Given the description of an element on the screen output the (x, y) to click on. 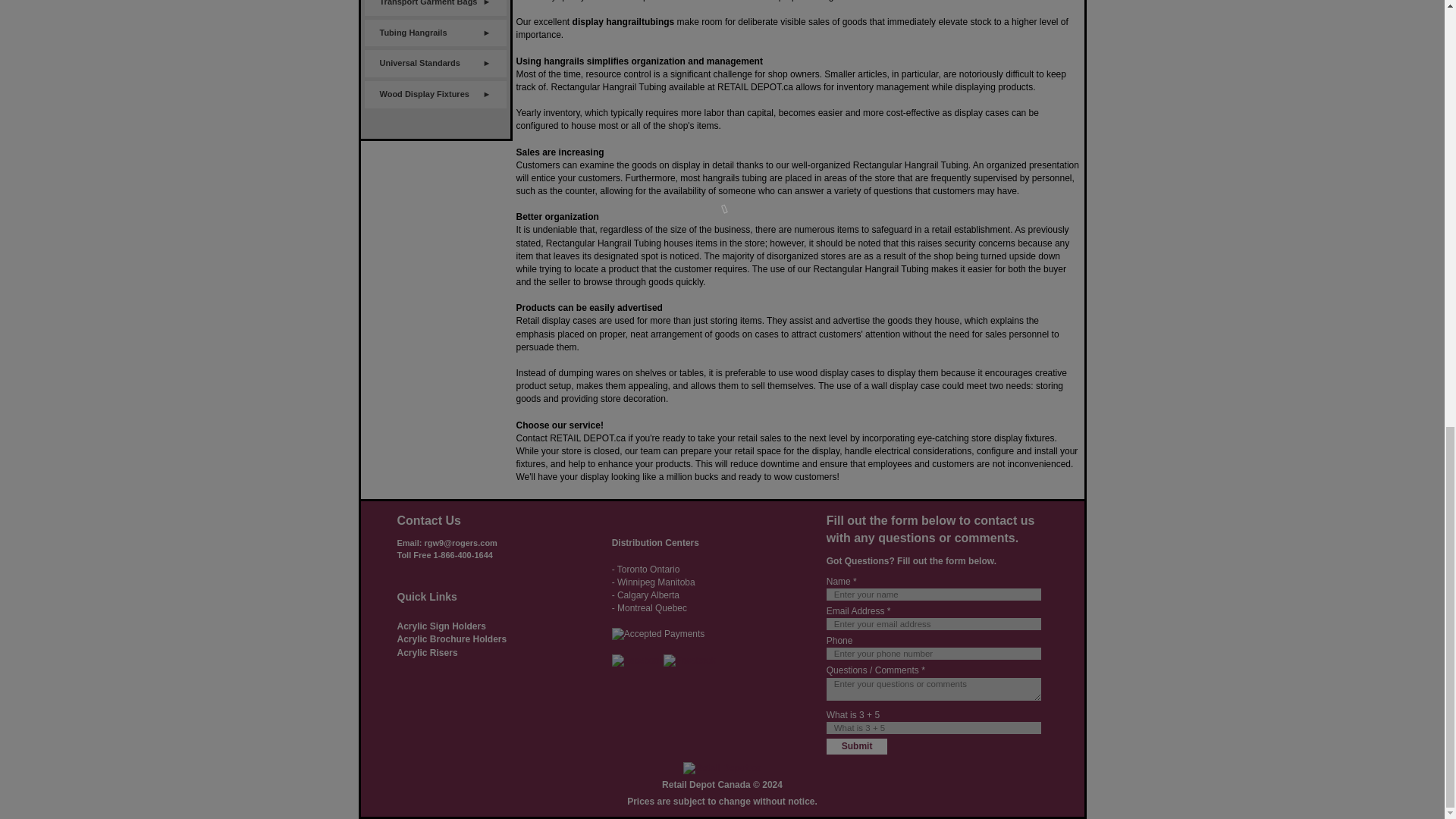
Find us on Twitter (689, 660)
Tubing Hangrails (434, 32)
Wood Display Fixtures (434, 94)
Find us on Facebook (637, 660)
Transport Garment Bags (434, 7)
Universal Standards (434, 62)
